Given the description of an element on the screen output the (x, y) to click on. 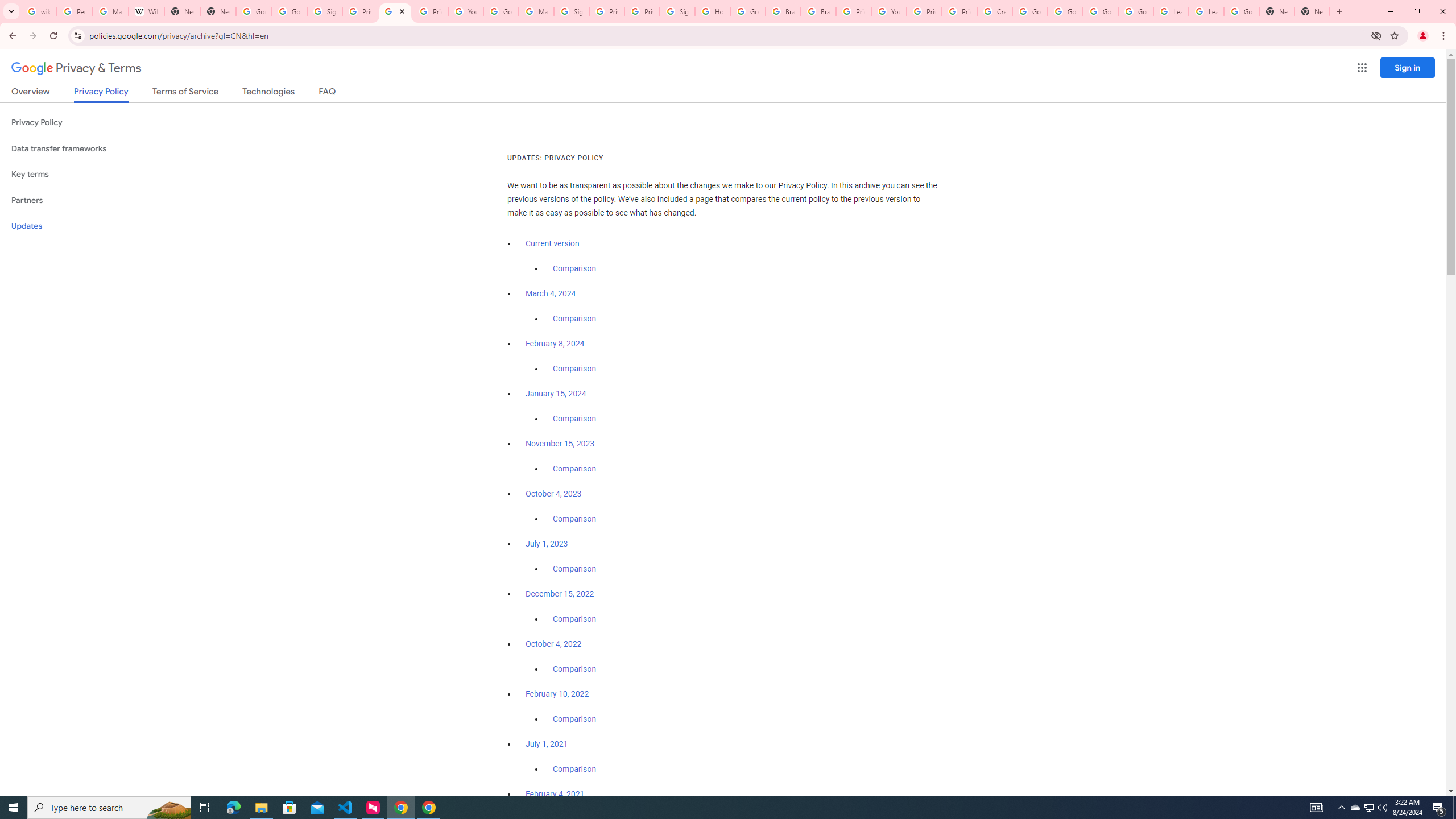
New Tab (218, 11)
October 4, 2023 (553, 493)
Wikipedia:Edit requests - Wikipedia (145, 11)
July 1, 2023 (546, 543)
New Tab (1312, 11)
February 10, 2022 (557, 693)
Comparison (574, 768)
